Given the description of an element on the screen output the (x, y) to click on. 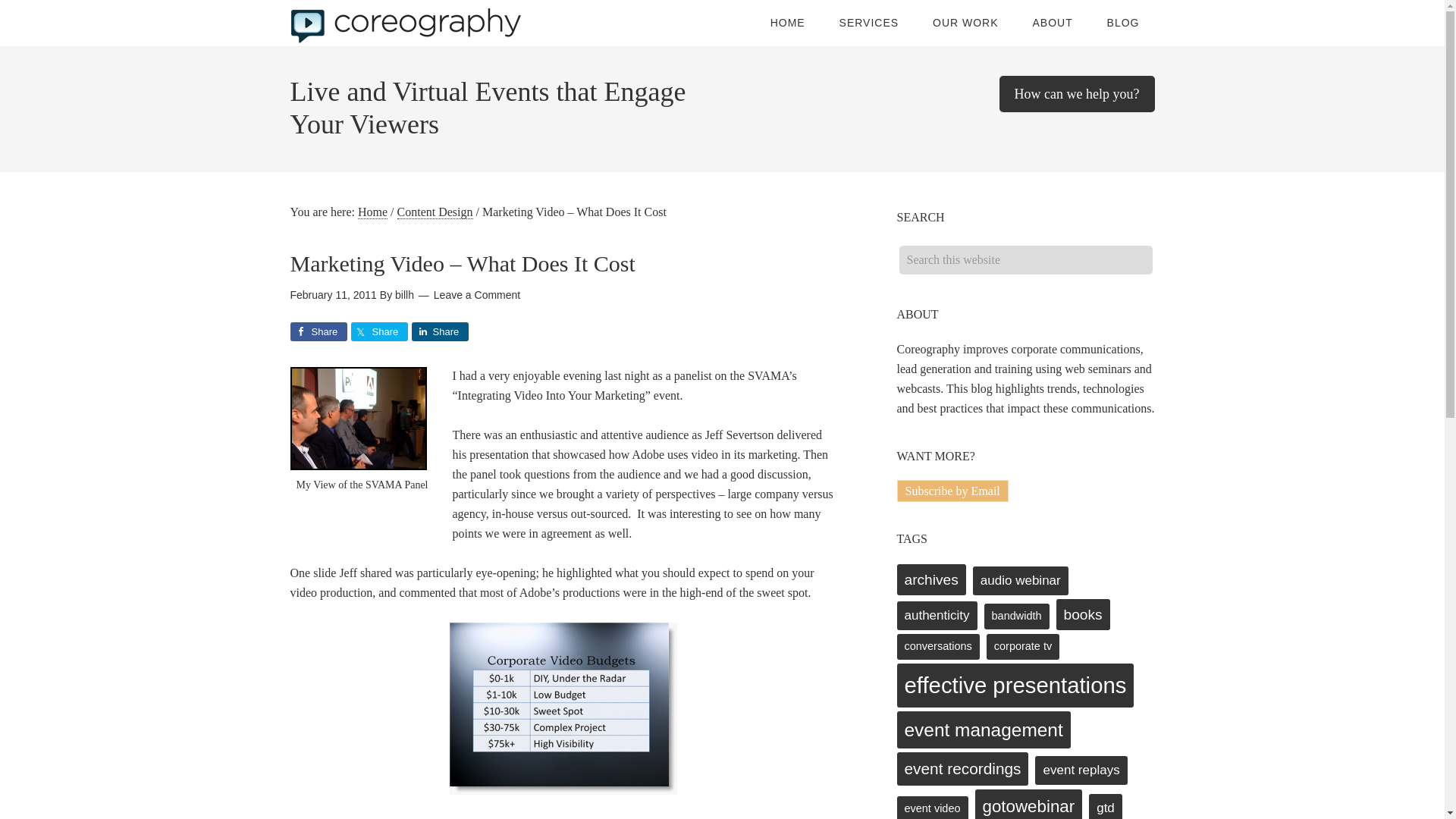
Leave a Comment (476, 295)
Share (378, 331)
ABOUT (1051, 22)
SVAMA Panel (357, 418)
Corporate Video Budgets (562, 708)
BLOG (1123, 22)
Share (438, 331)
Share (317, 331)
OUR WORK (965, 22)
Home (372, 212)
billh (403, 295)
Content Design (435, 212)
How can we help you? (1076, 94)
